Given the description of an element on the screen output the (x, y) to click on. 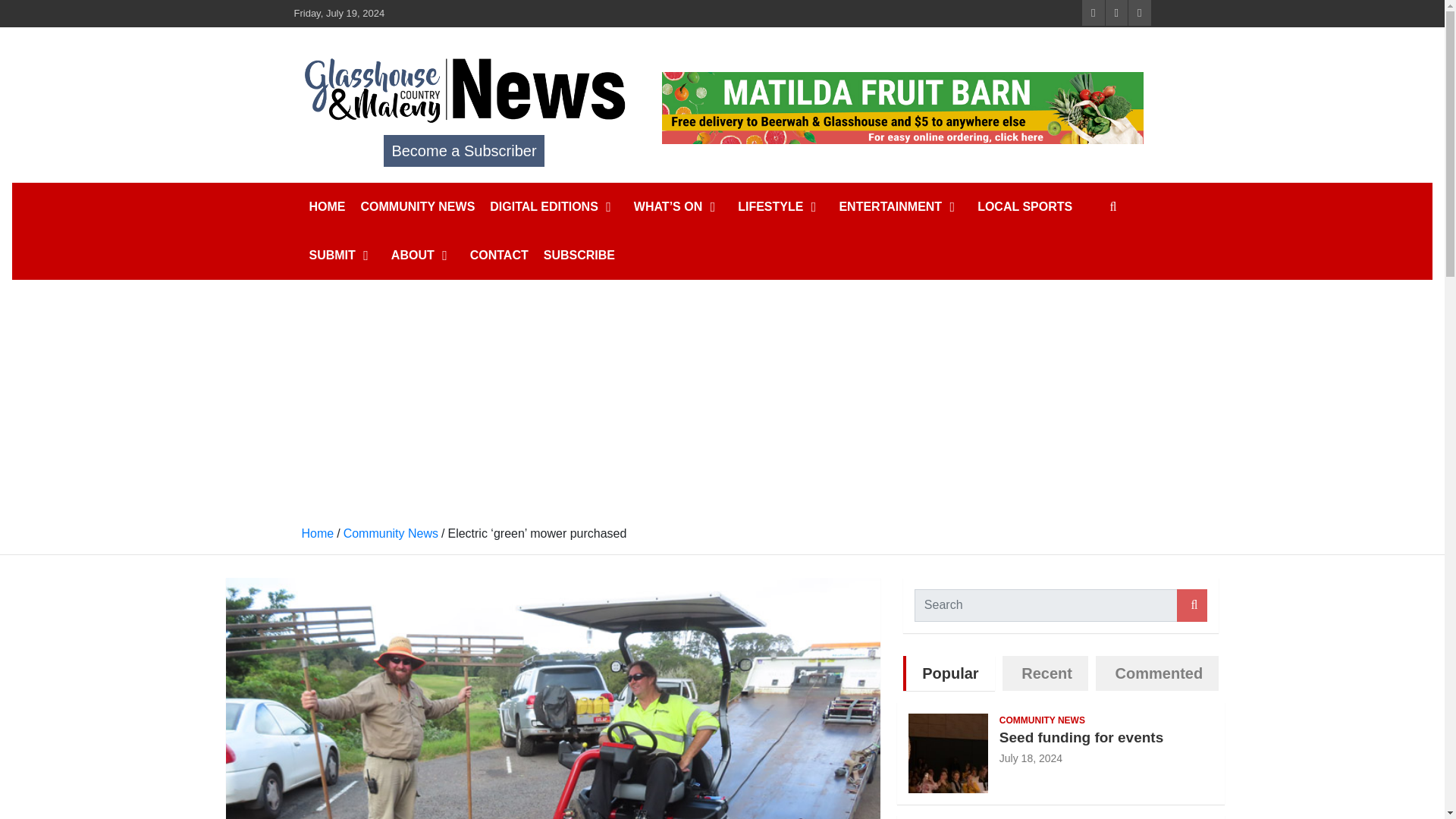
Seed funding for events (1030, 758)
LIFESTYLE (780, 206)
HOME (327, 206)
ENTERTAINMENT (900, 206)
CONTACT (499, 255)
Become a Subscriber (463, 151)
SUBMIT (342, 255)
DIGITAL EDITIONS (553, 206)
SUBSCRIBE (579, 255)
LOCAL SPORTS (1024, 206)
ABOUT (423, 255)
COMMUNITY NEWS (418, 206)
